Given the description of an element on the screen output the (x, y) to click on. 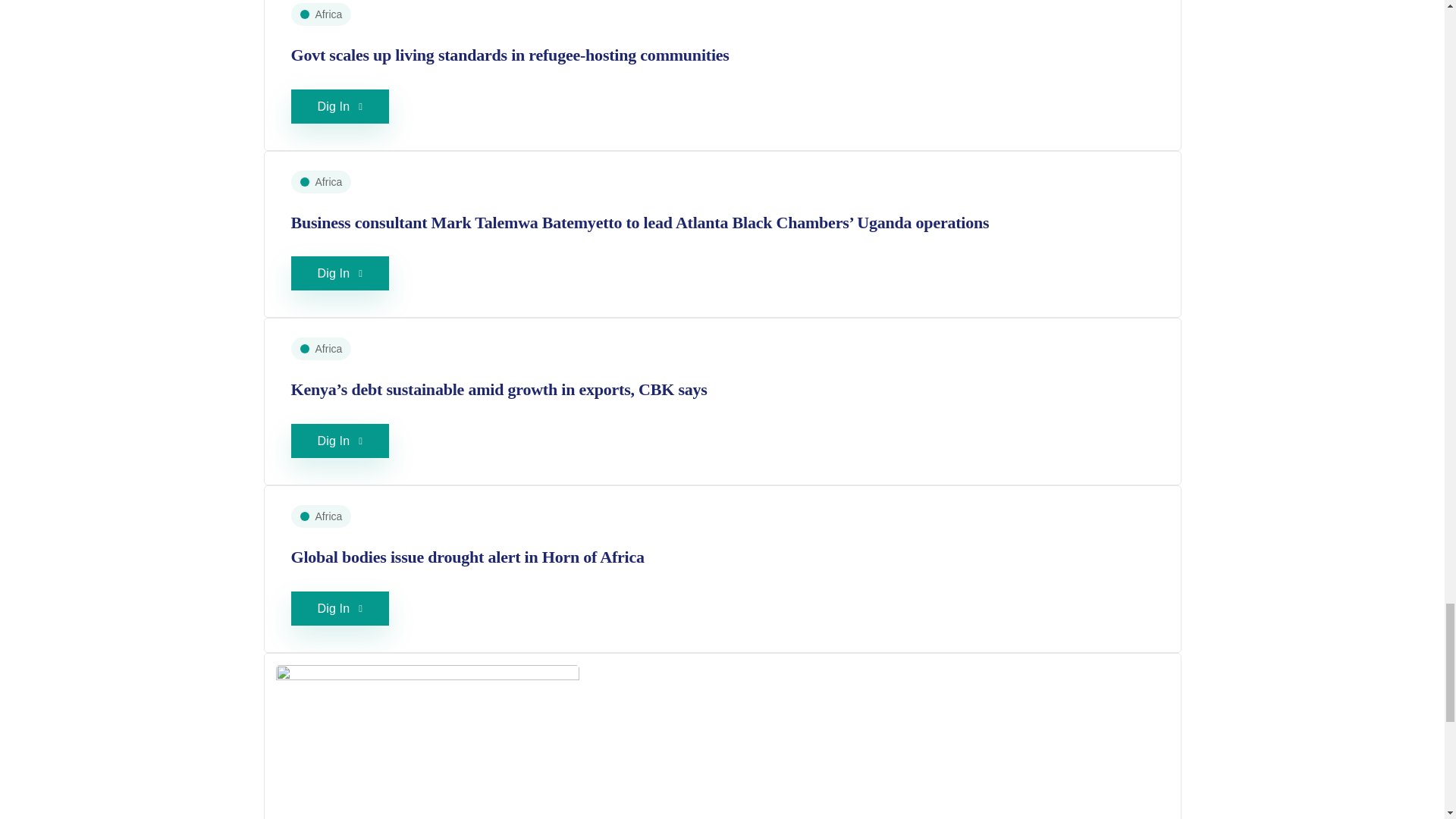
Doubts linger as gold feasibility is weighed (427, 758)
Global bodies issue drought alert in Horn of Africa (468, 556)
